Given the description of an element on the screen output the (x, y) to click on. 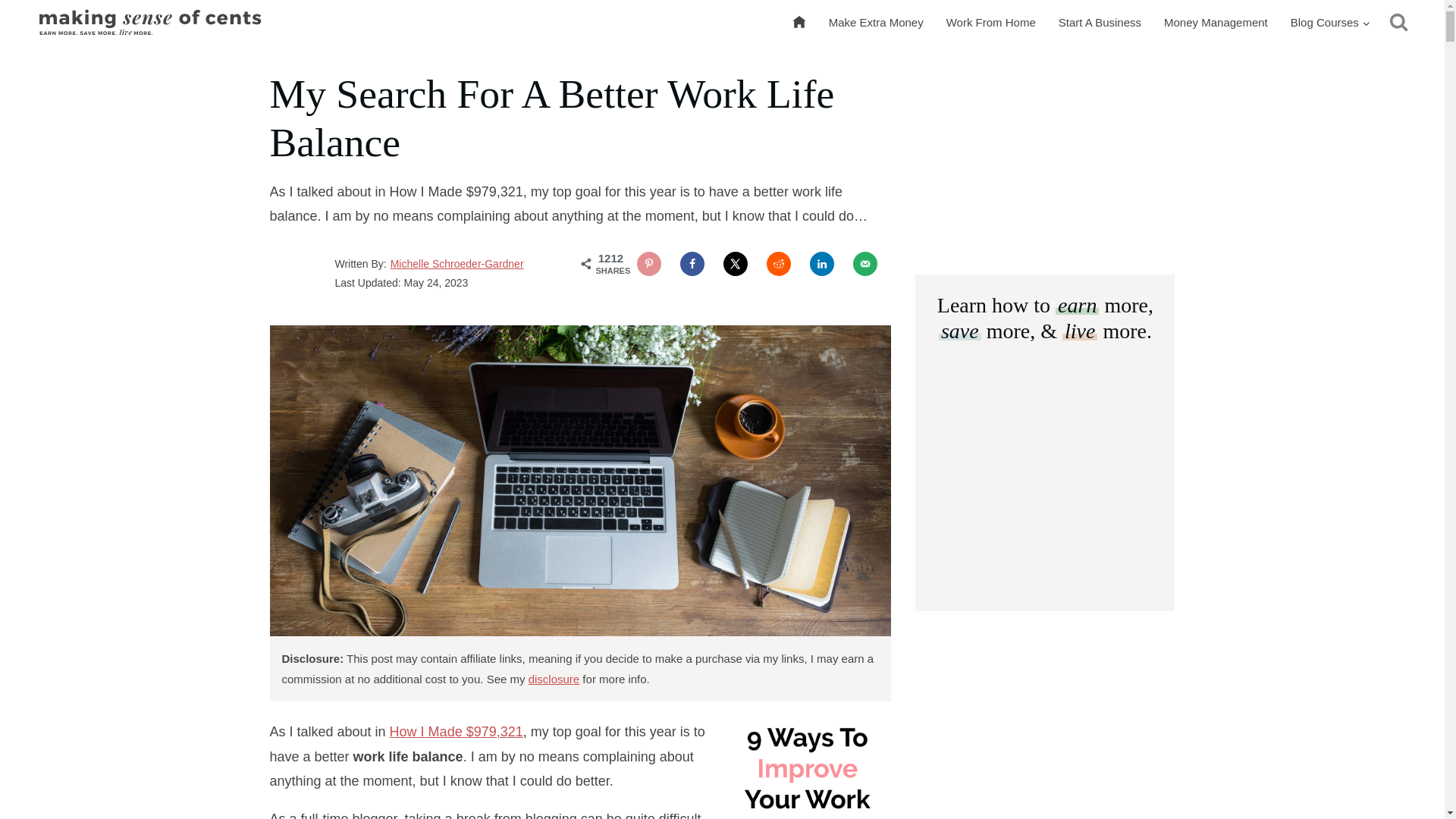
Blog Courses (1330, 22)
Start A Business (1099, 22)
Share on Facebook (691, 263)
Send over email (865, 263)
Work From Home (990, 22)
Make Extra Money (875, 22)
Michelle Schroeder-Gardner (457, 263)
Share on Reddit (778, 263)
Share on LinkedIn (821, 263)
disclosure (553, 678)
